Given the description of an element on the screen output the (x, y) to click on. 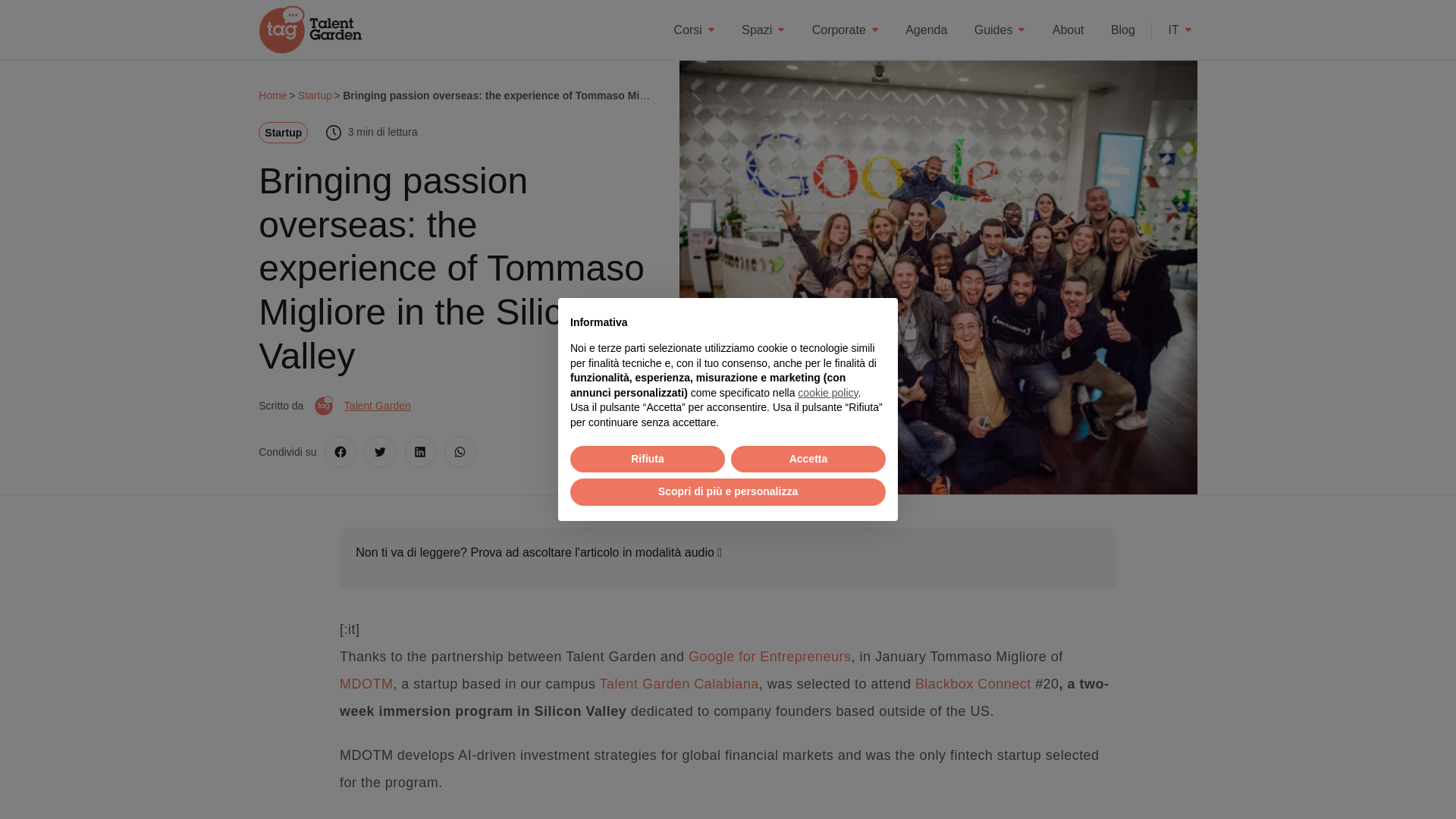
Spazi (763, 29)
Corporate (844, 29)
Agenda (925, 29)
About (1067, 29)
Corsi (694, 29)
Guides (999, 29)
